Given the description of an element on the screen output the (x, y) to click on. 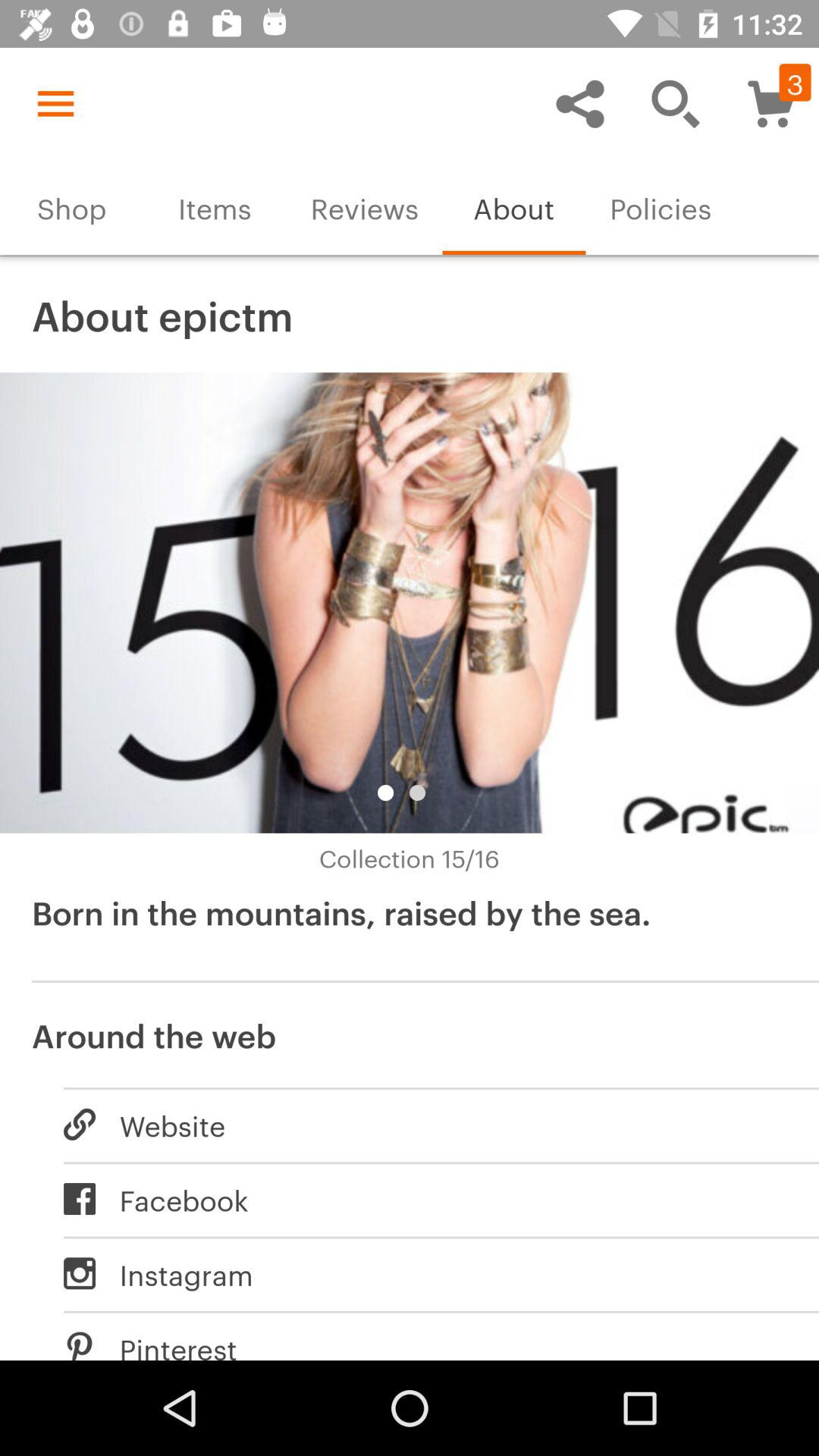
turn on the icon above the facebook icon (425, 1124)
